Given the description of an element on the screen output the (x, y) to click on. 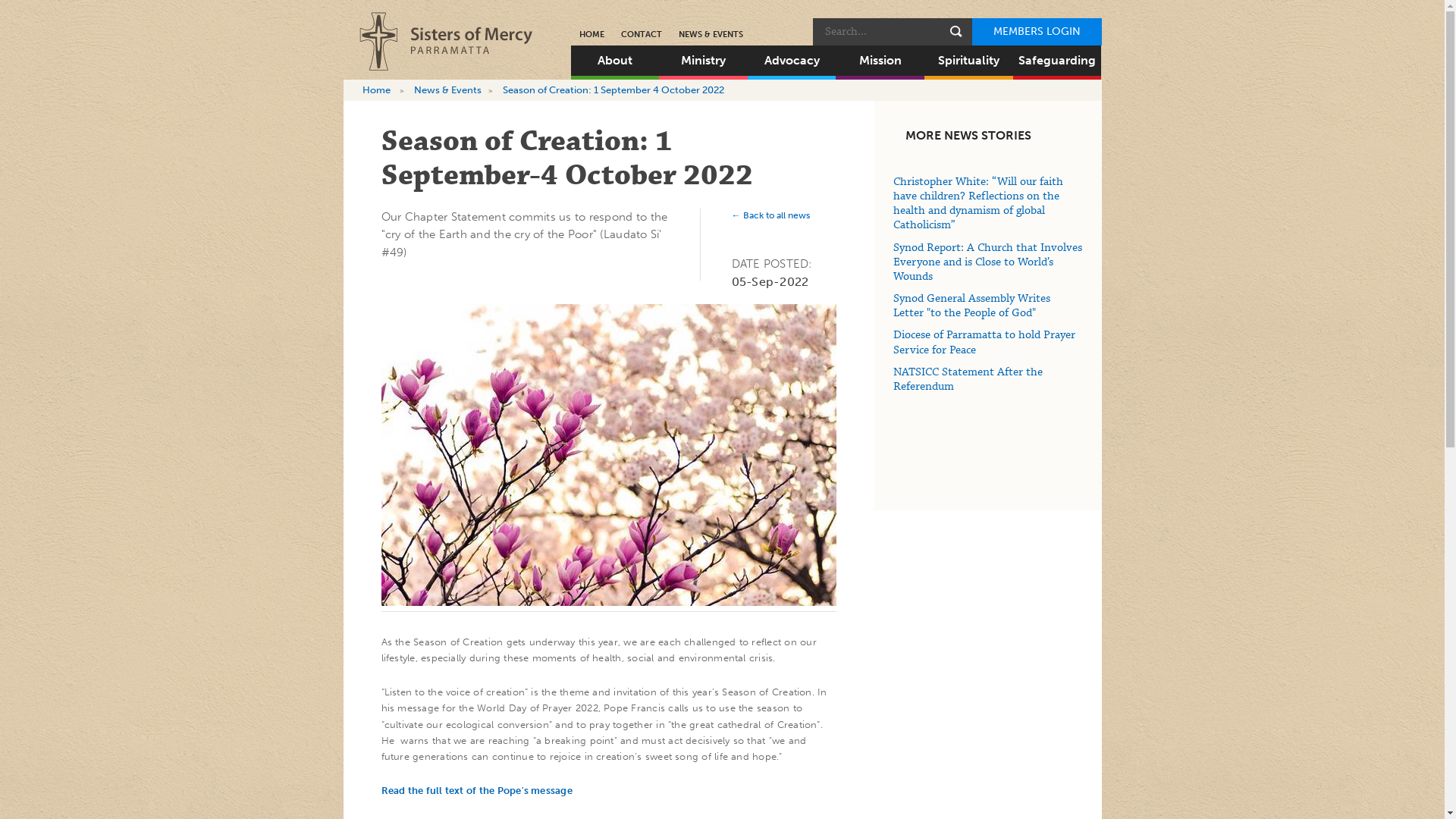
About Element type: text (614, 60)
Diocese of Parramatta to hold Prayer Service for Peace Element type: text (984, 342)
Spirituality Element type: text (968, 60)
HOME Element type: text (590, 33)
Advocacy Element type: text (791, 60)
Ministry Element type: text (702, 60)
CONTACT Element type: text (641, 33)
News & Events Element type: text (447, 89)
Home Element type: text (376, 89)
Safeguarding Element type: text (1057, 60)
Read the full text of the Pope's message Element type: text (475, 790)
Mission Element type: text (879, 60)
MEMBERS LOGIN Element type: text (1036, 31)
Synod General Assembly Writes Letter "to the People of God" Element type: text (971, 305)
NATSICC Statement After the Referendum Element type: text (967, 379)
NEWS & EVENTS Element type: text (710, 33)
Back to all news Element type: text (770, 215)
Season of Creation: 1 September 4 October 2022 Element type: text (613, 89)
